Given the description of an element on the screen output the (x, y) to click on. 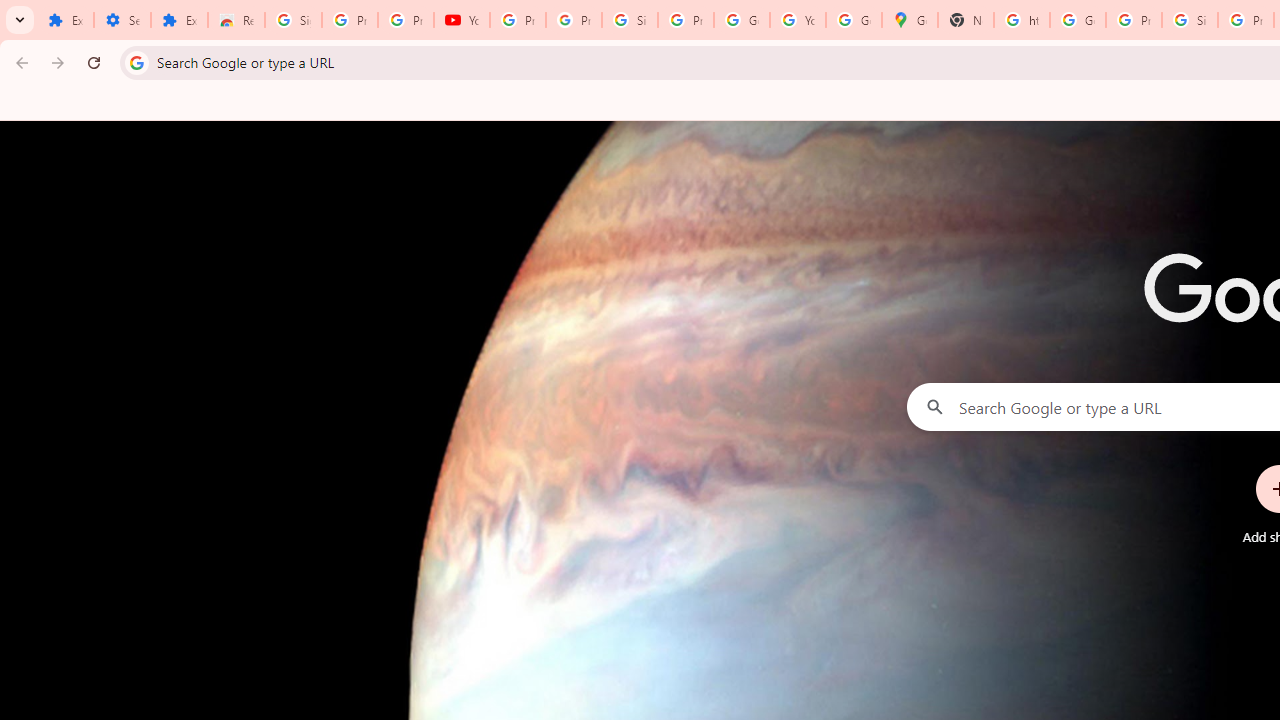
New Tab (966, 20)
Reviews: Helix Fruit Jump Arcade Game (235, 20)
YouTube (461, 20)
Extensions (65, 20)
